Given the description of an element on the screen output the (x, y) to click on. 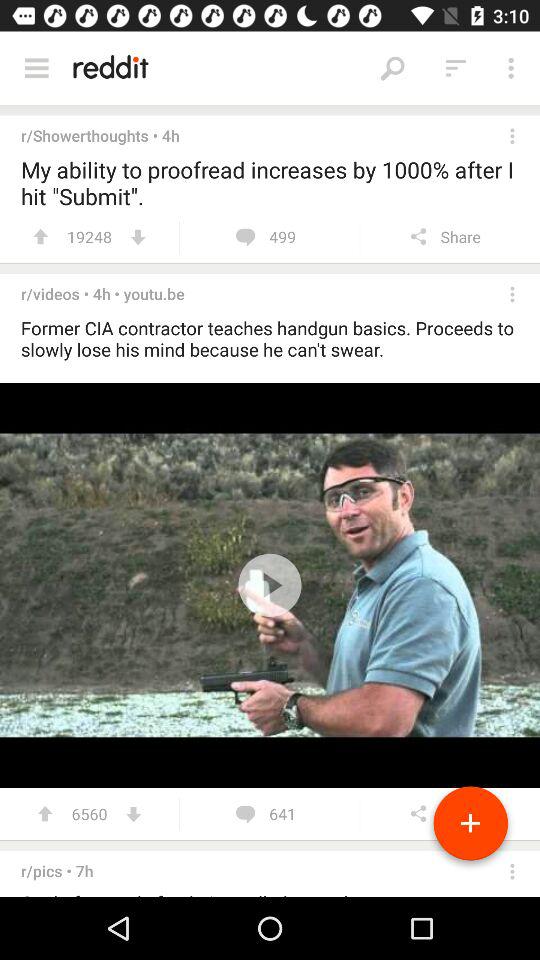
select the option which is beside to rpics (512, 872)
click the icon left to the three doted icon (456, 68)
select the third more button from top (512, 294)
